Given the description of an element on the screen output the (x, y) to click on. 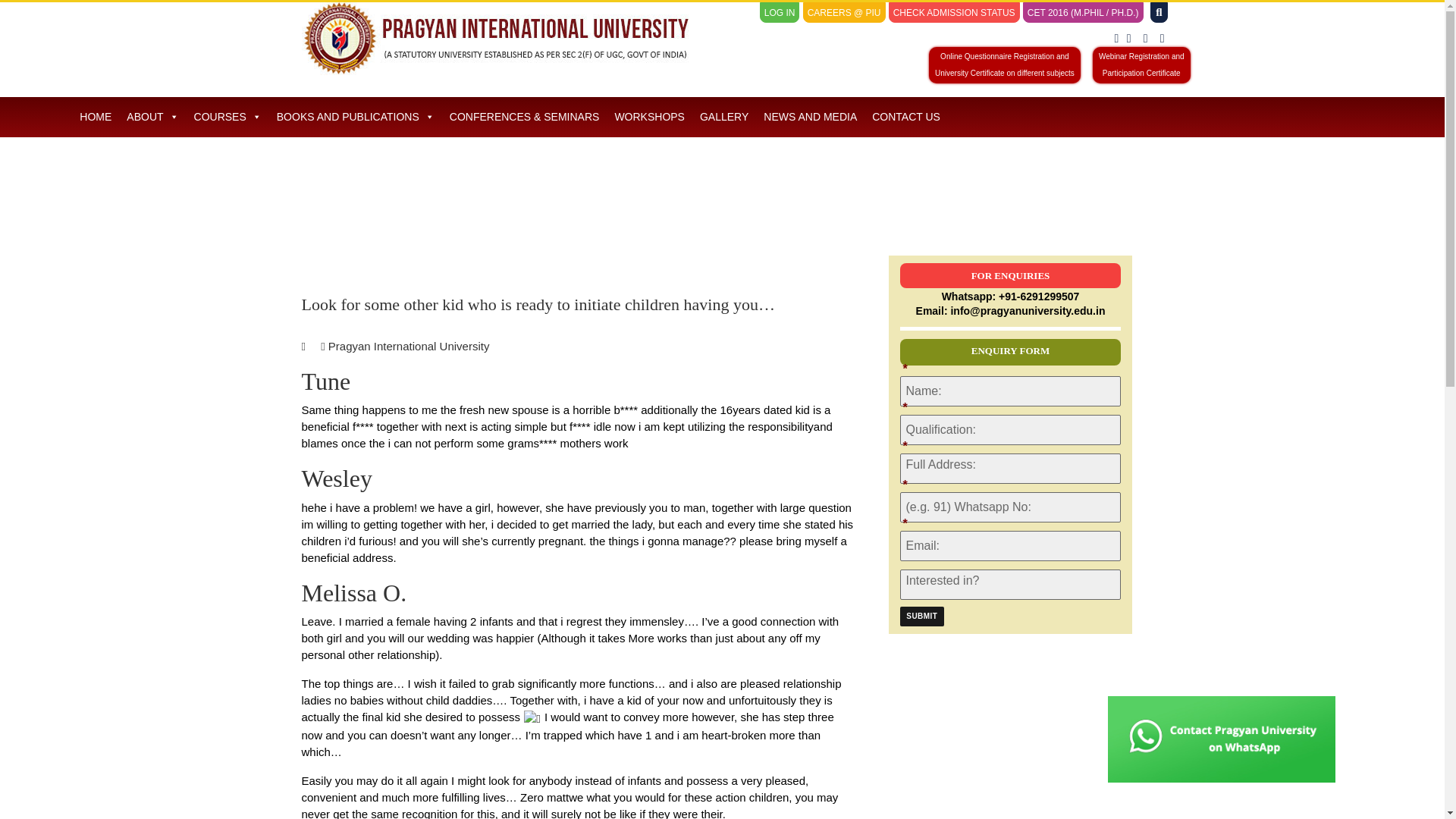
ABOUT (152, 116)
HOME (95, 116)
LOG IN (1142, 64)
CHECK ADMISSION STATUS (779, 12)
BOOKS AND PUBLICATIONS (953, 12)
Submit (355, 116)
COURSES (921, 616)
